Given the description of an element on the screen output the (x, y) to click on. 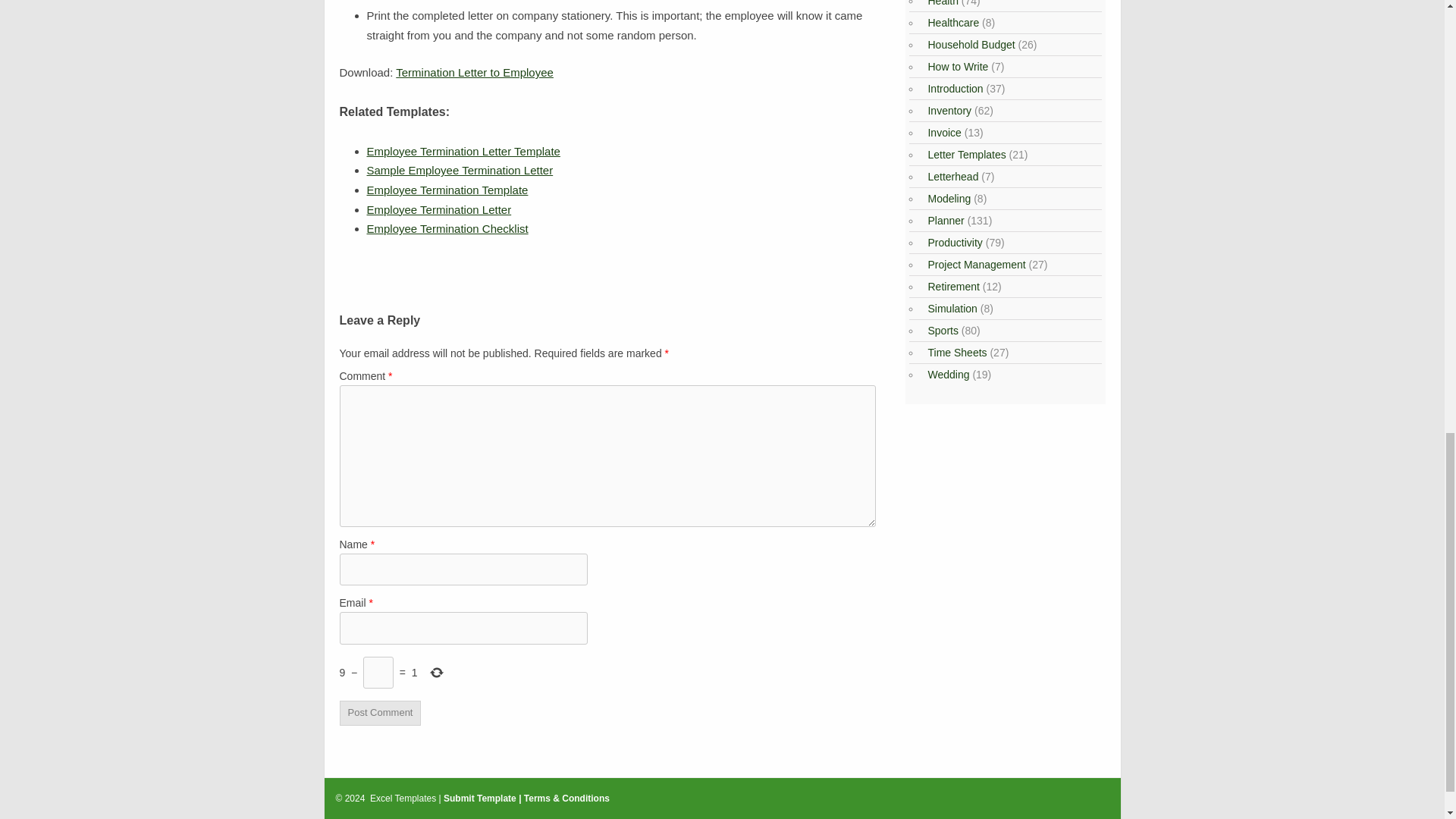
February 14, 2014 (463, 151)
April 29, 2013 (447, 228)
February 14, 2014 (439, 209)
Employee Termination Letter Template (463, 151)
Employee Termination Template (447, 189)
Post Comment (380, 713)
September 11, 2015 (447, 189)
Employee Termination Letter (439, 209)
Post Comment (380, 713)
Employee Termination Checklist (447, 228)
